Given the description of an element on the screen output the (x, y) to click on. 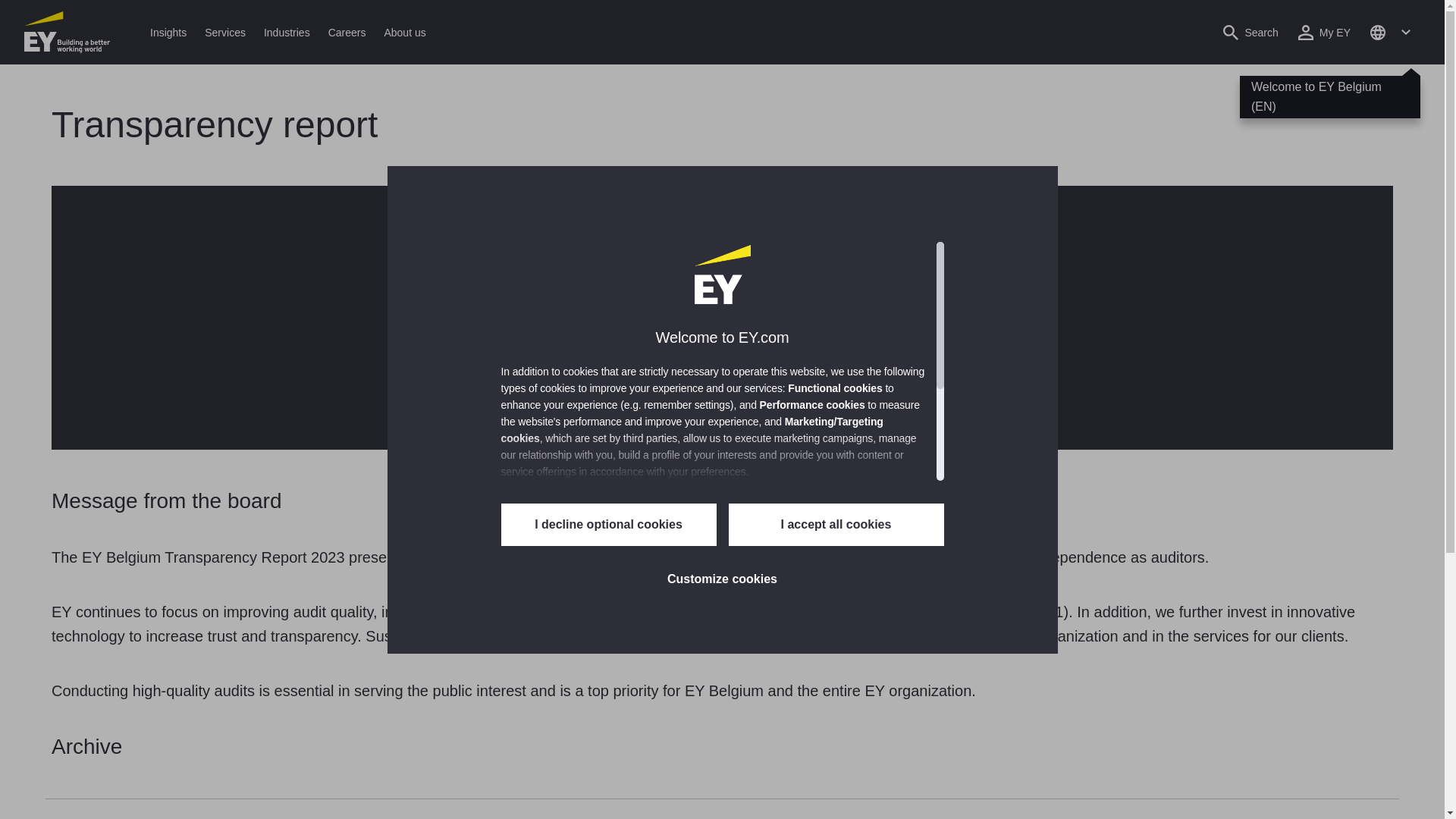
My EY (1324, 32)
Open search (1250, 32)
EY Homepage (67, 32)
